Given the description of an element on the screen output the (x, y) to click on. 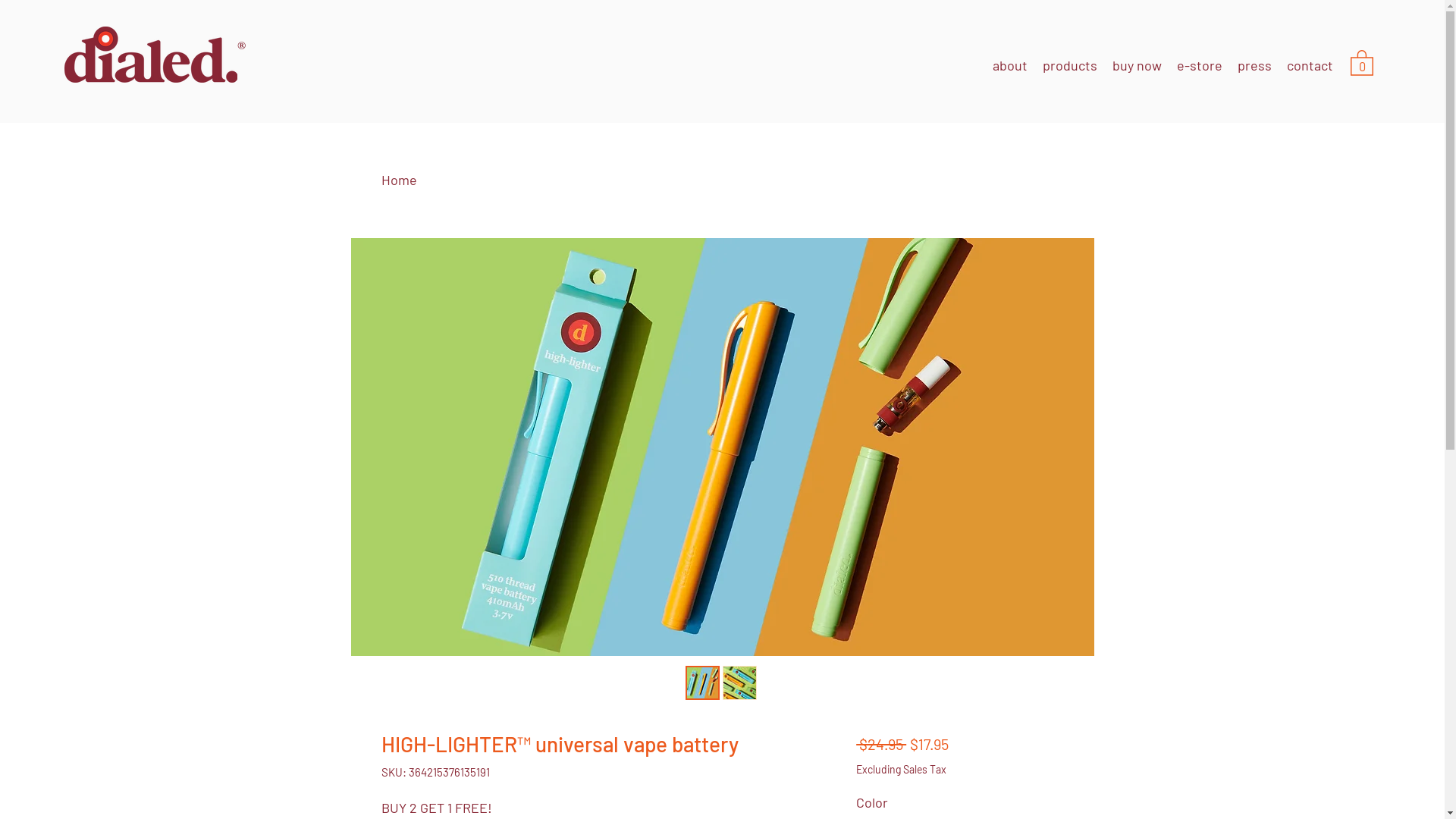
Home Element type: text (398, 179)
0 Element type: text (1361, 61)
contact Element type: text (1309, 64)
e-store Element type: text (1199, 64)
press Element type: text (1254, 64)
products Element type: text (1069, 64)
buy now Element type: text (1136, 64)
about Element type: text (1010, 64)
